Given the description of an element on the screen output the (x, y) to click on. 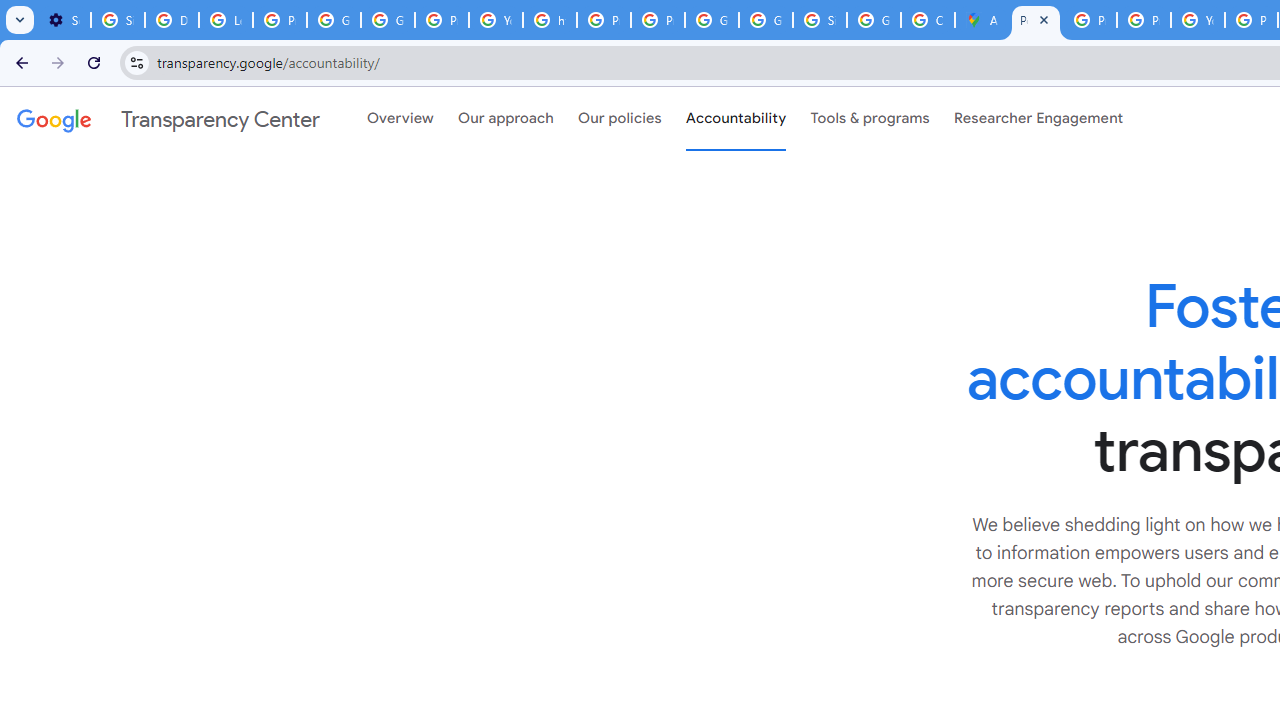
Privacy Help Center - Policies Help (604, 20)
Tools & programs (869, 119)
Google Account Help (333, 20)
Our policies (619, 119)
Policy Accountability and Transparency - Transparency Center (1035, 20)
Sign in - Google Accounts (117, 20)
Transparency Center (167, 119)
Researcher Engagement (1038, 119)
Learn how to find your photos - Google Photos Help (225, 20)
